Given the description of an element on the screen output the (x, y) to click on. 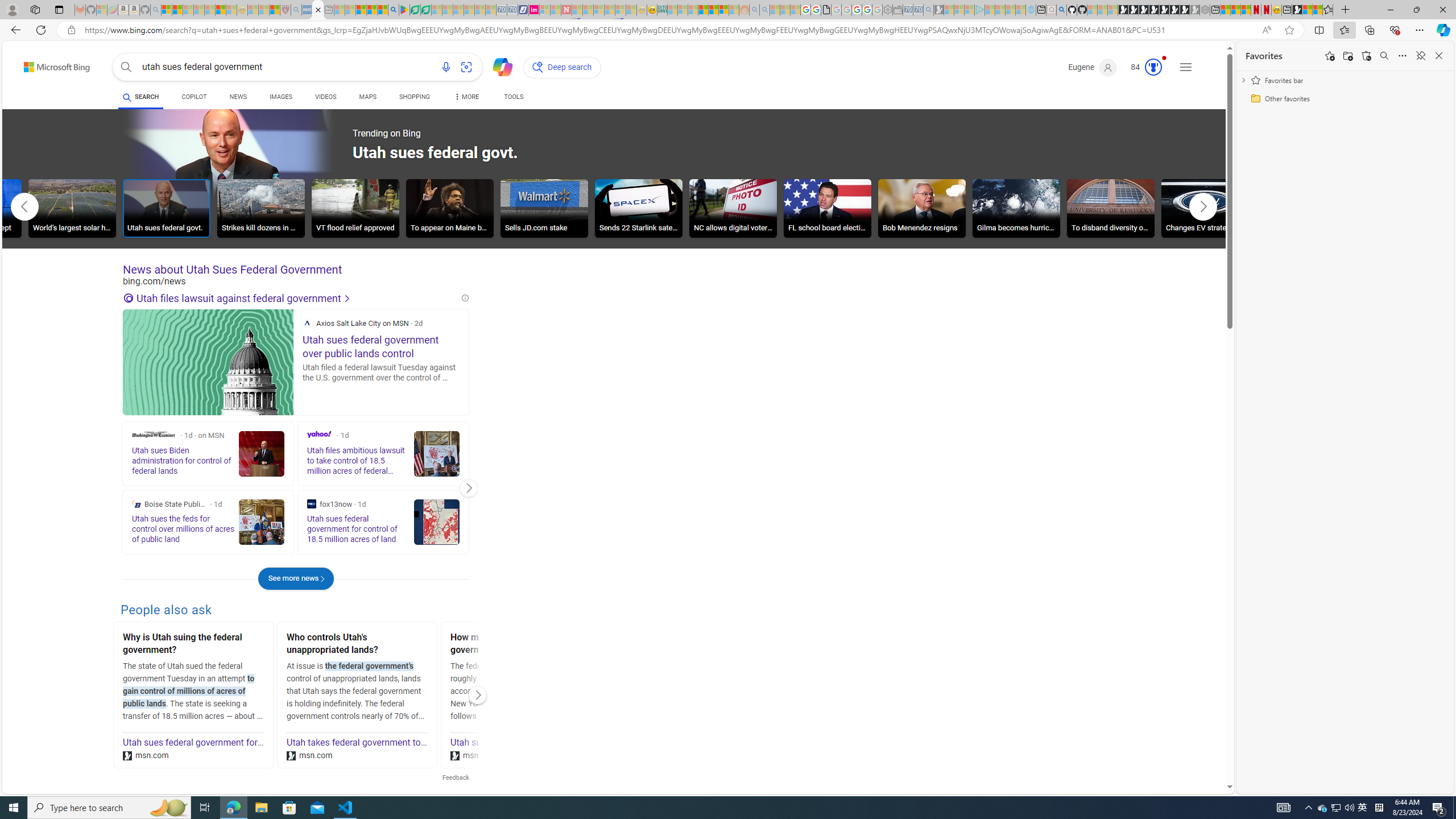
Changes EV strategy (1205, 207)
utah sues federal government - Search (317, 9)
AutomationID: tob_left_arrow (24, 206)
Gilma becomes hurricane (1015, 209)
Eugene (1093, 67)
